Given the description of an element on the screen output the (x, y) to click on. 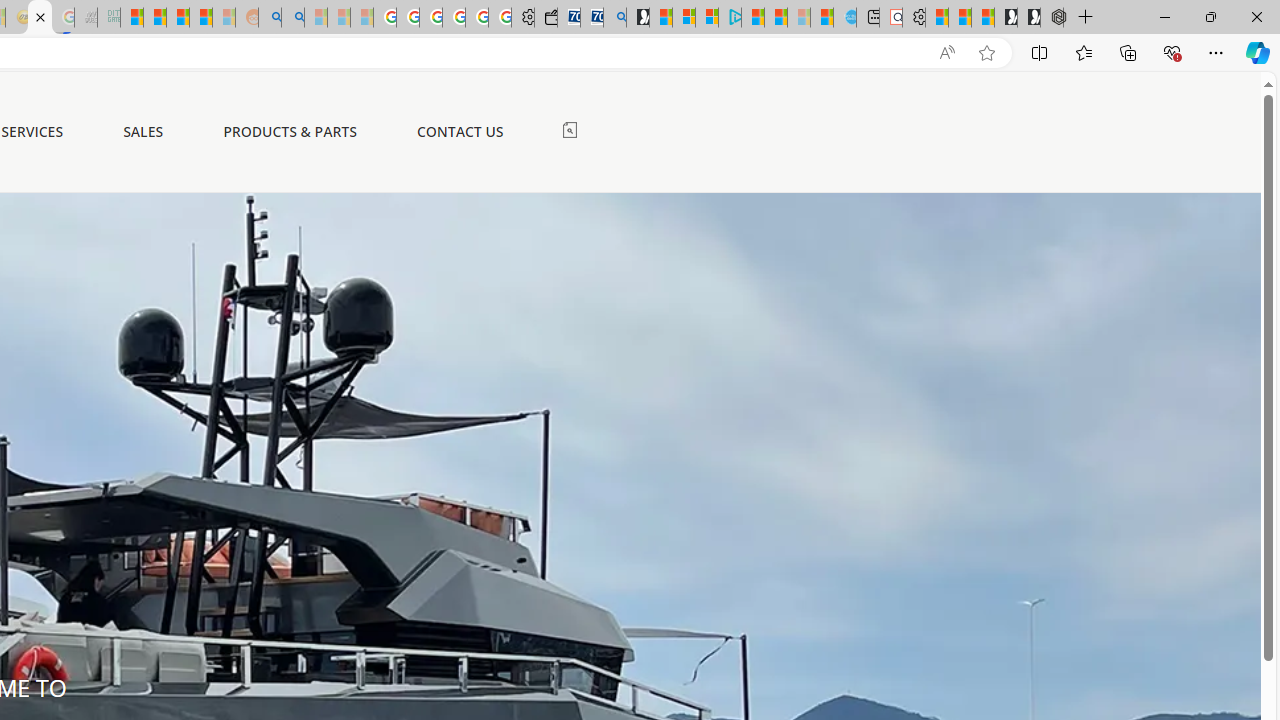
Wallet (545, 17)
Bing Real Estate - Home sales and rental listings (614, 17)
